Given the description of an element on the screen output the (x, y) to click on. 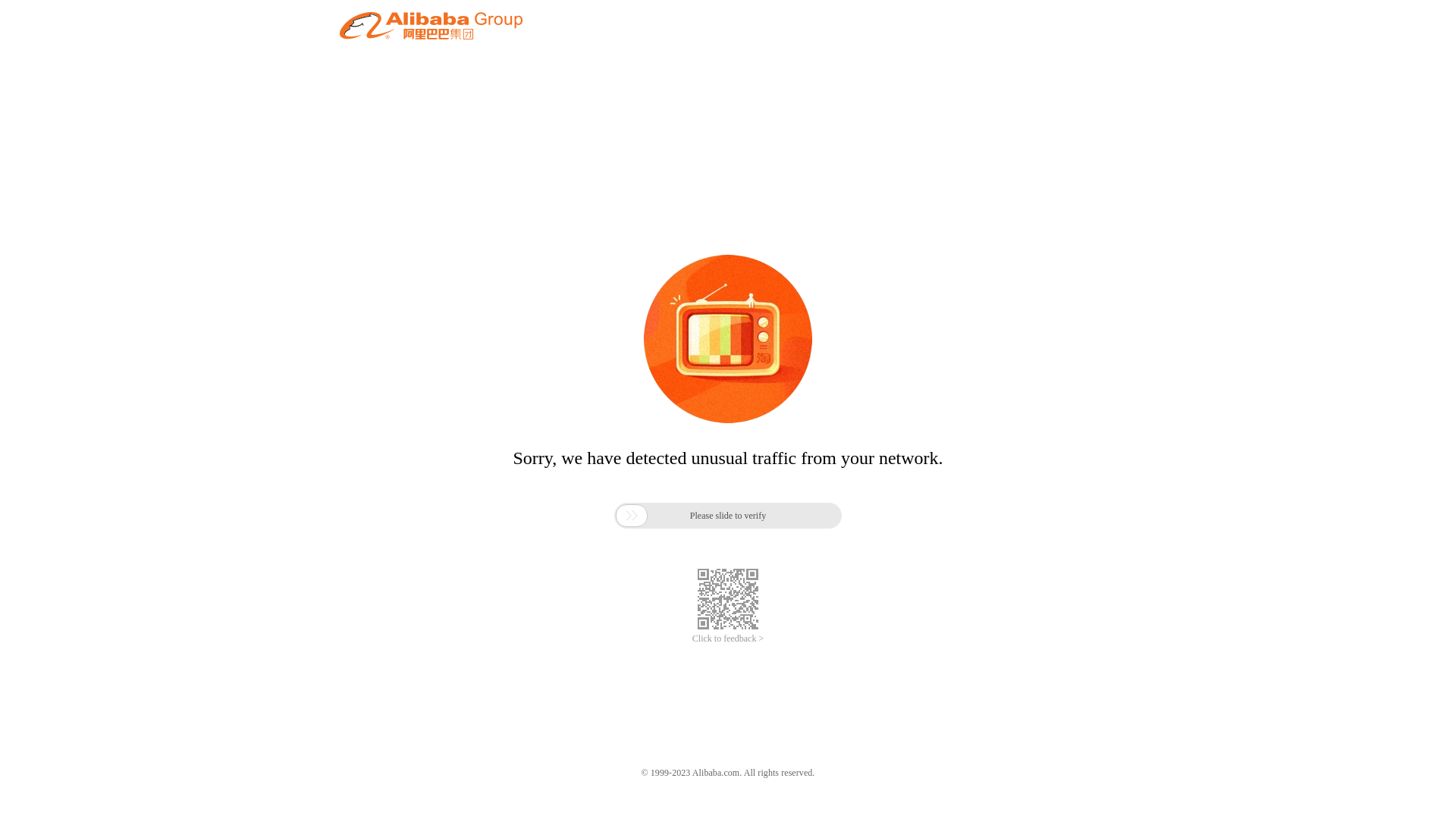
Click to feedback > Element type: text (727, 638)
